Given the description of an element on the screen output the (x, y) to click on. 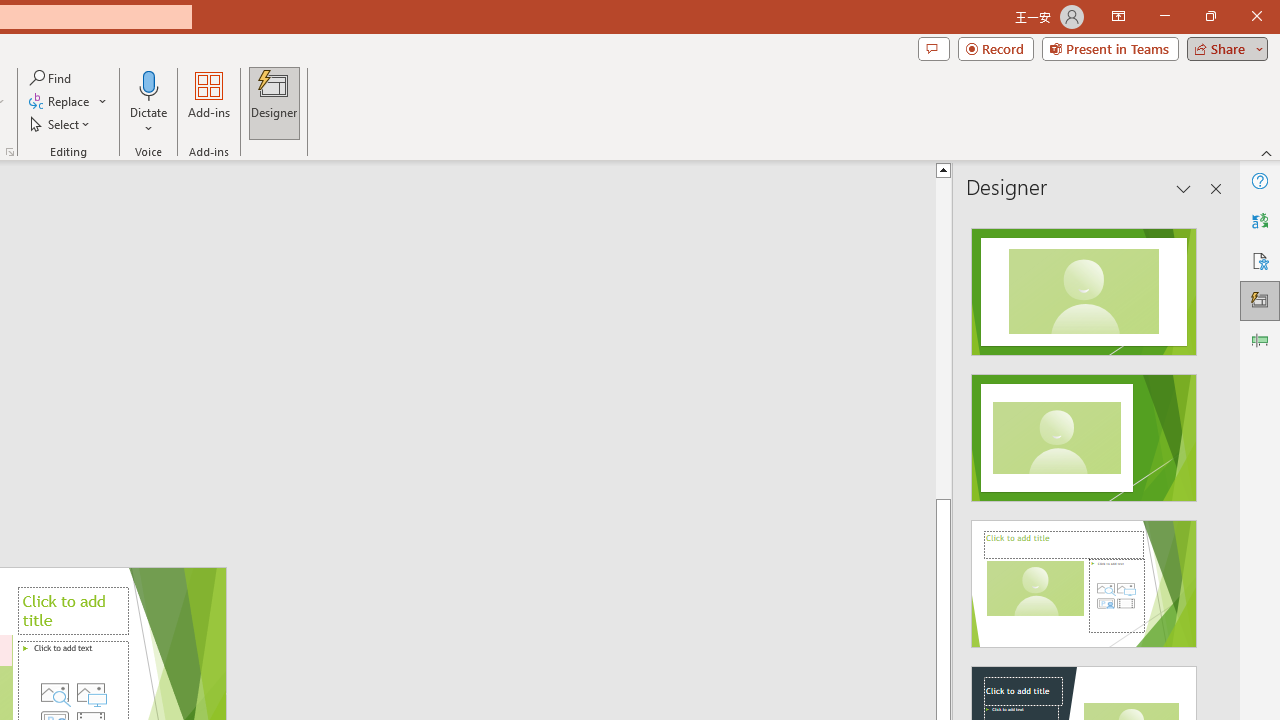
Class: NetUIImage (1083, 584)
Task Pane Options (1183, 188)
Animation Pane (1260, 340)
